Given the description of an element on the screen output the (x, y) to click on. 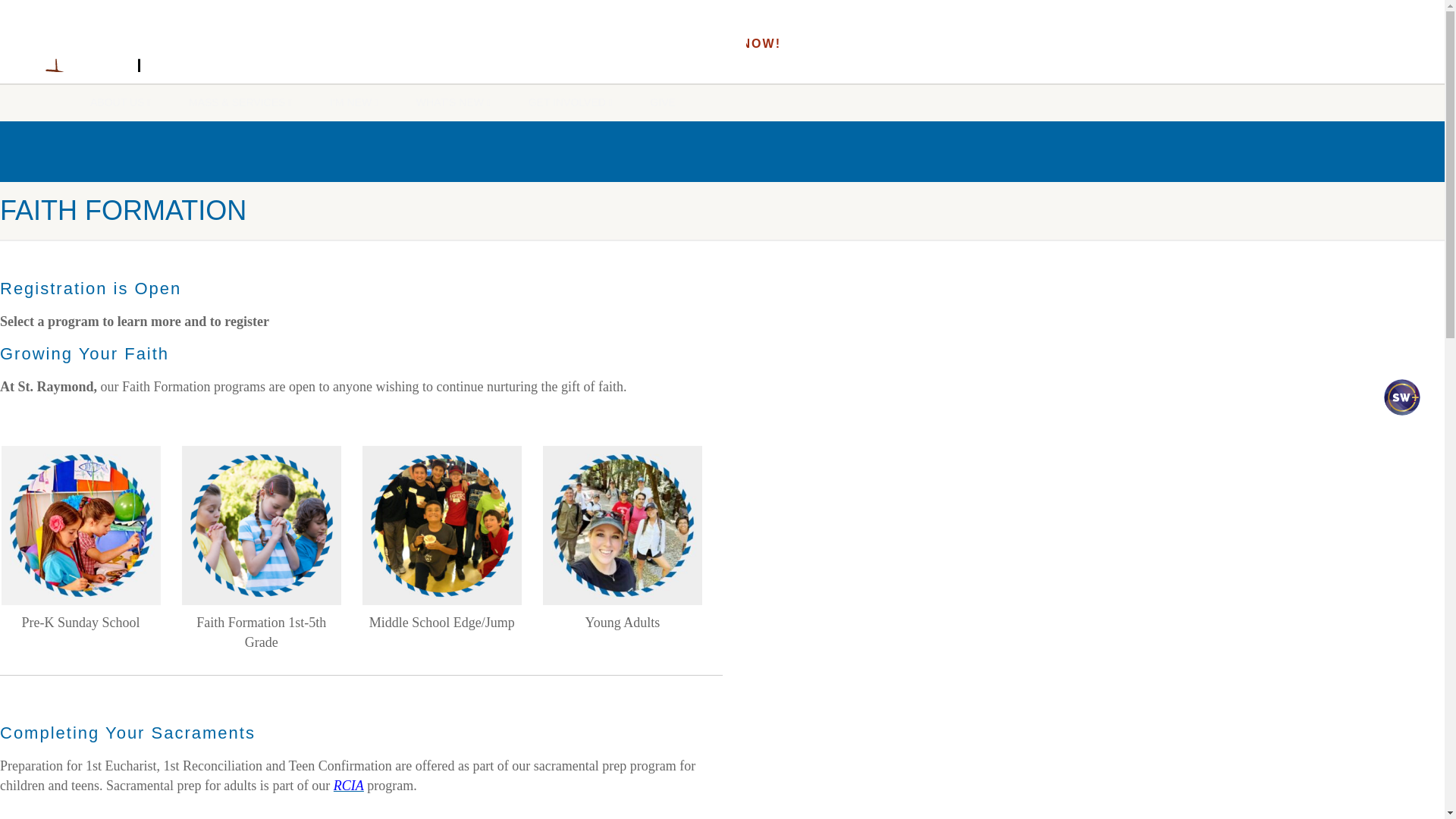
SW Plus (1398, 409)
DONATE NOW! (728, 43)
Pre-K Sunday School (80, 525)
Faith Formation 1st - 5th (261, 525)
Young Adults (622, 525)
ABOUT US (120, 102)
